Given the description of an element on the screen output the (x, y) to click on. 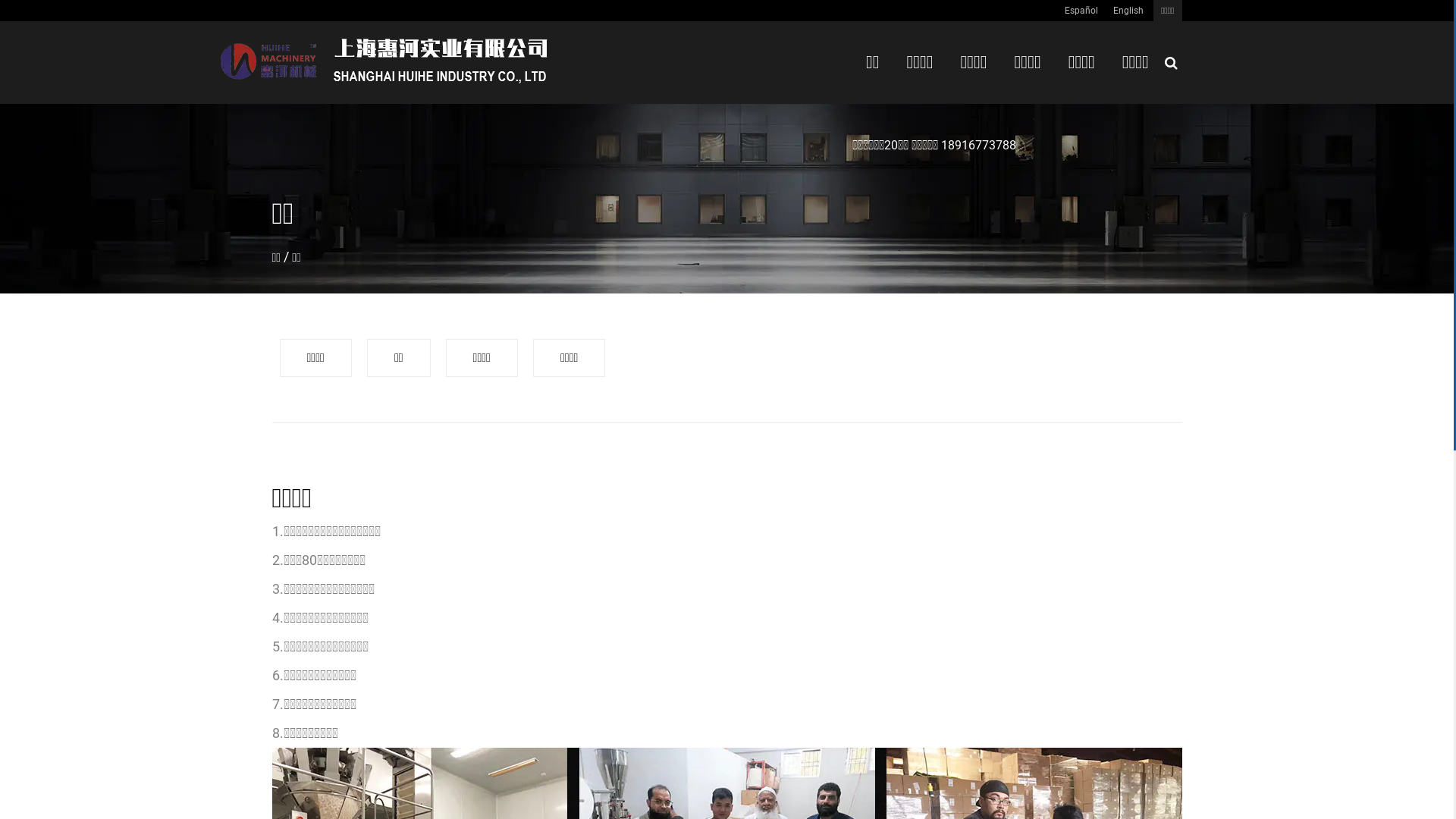
English Element type: text (1128, 10)
